Given the description of an element on the screen output the (x, y) to click on. 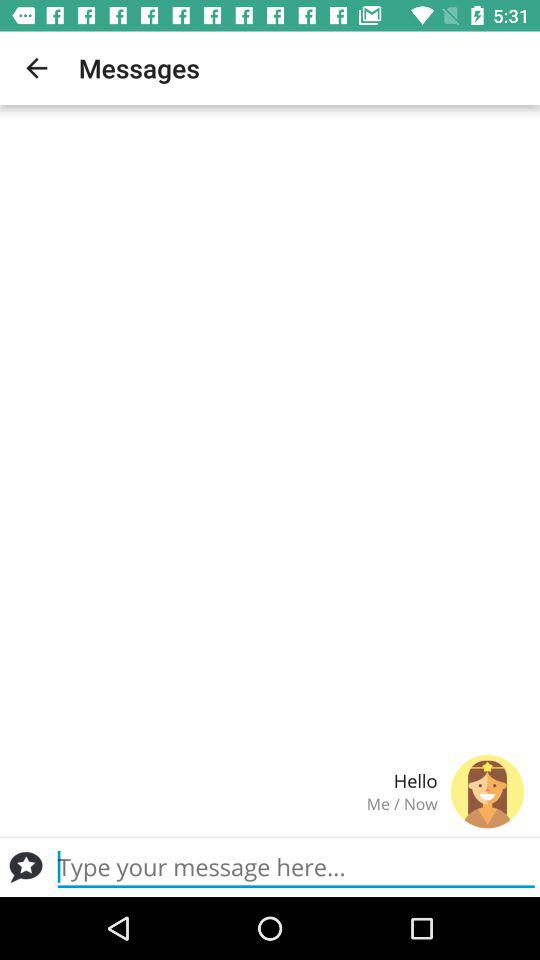
jump until the me / now item (226, 803)
